Given the description of an element on the screen output the (x, y) to click on. 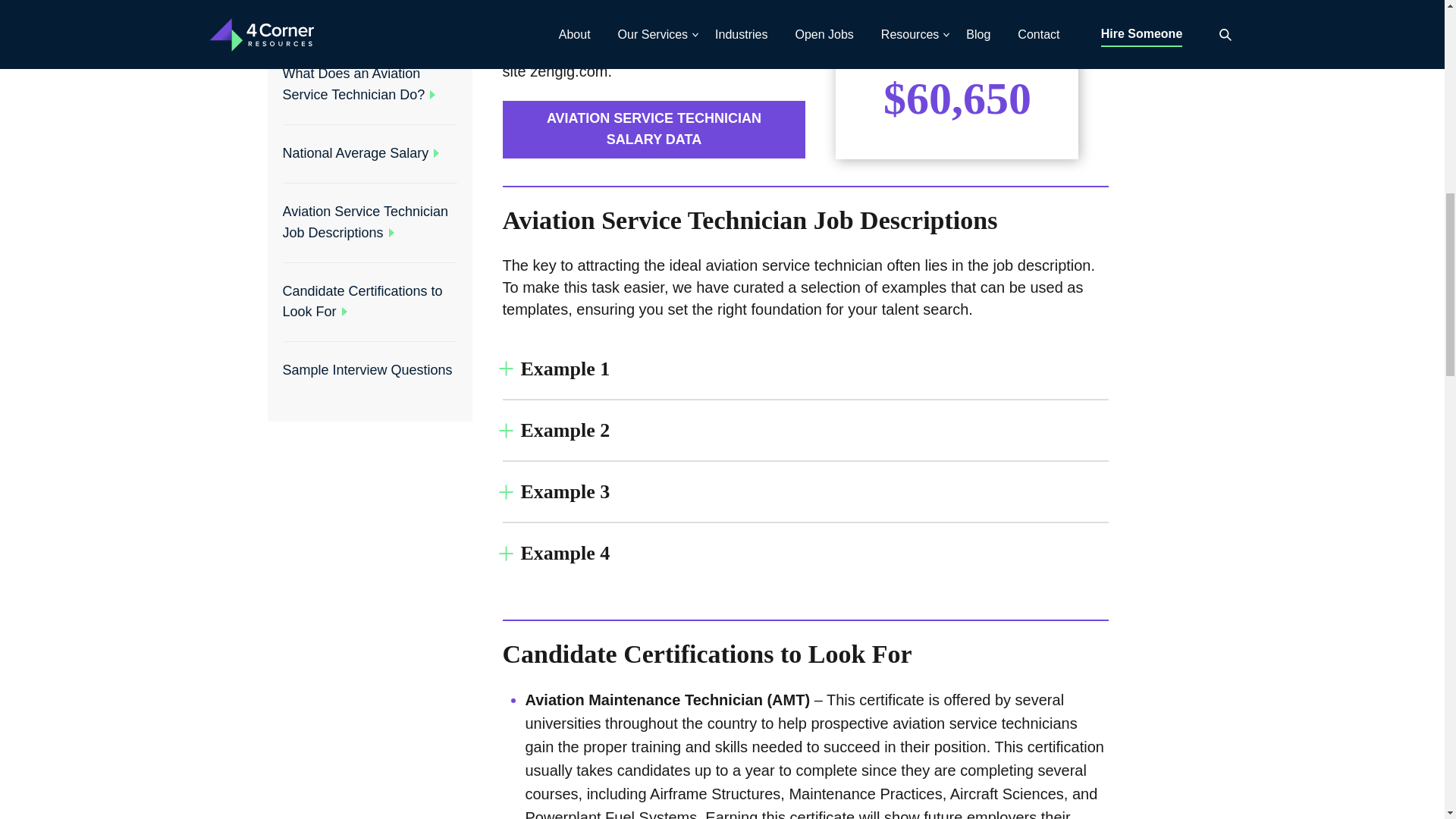
Candidate Certifications to Look For (362, 159)
Aviation Service Technician Job Descriptions (364, 80)
Sample Interview Questions (366, 227)
AVIATION SERVICE TECHNICIAN SALARY DATA (653, 129)
National Average Salary (355, 11)
